Given the description of an element on the screen output the (x, y) to click on. 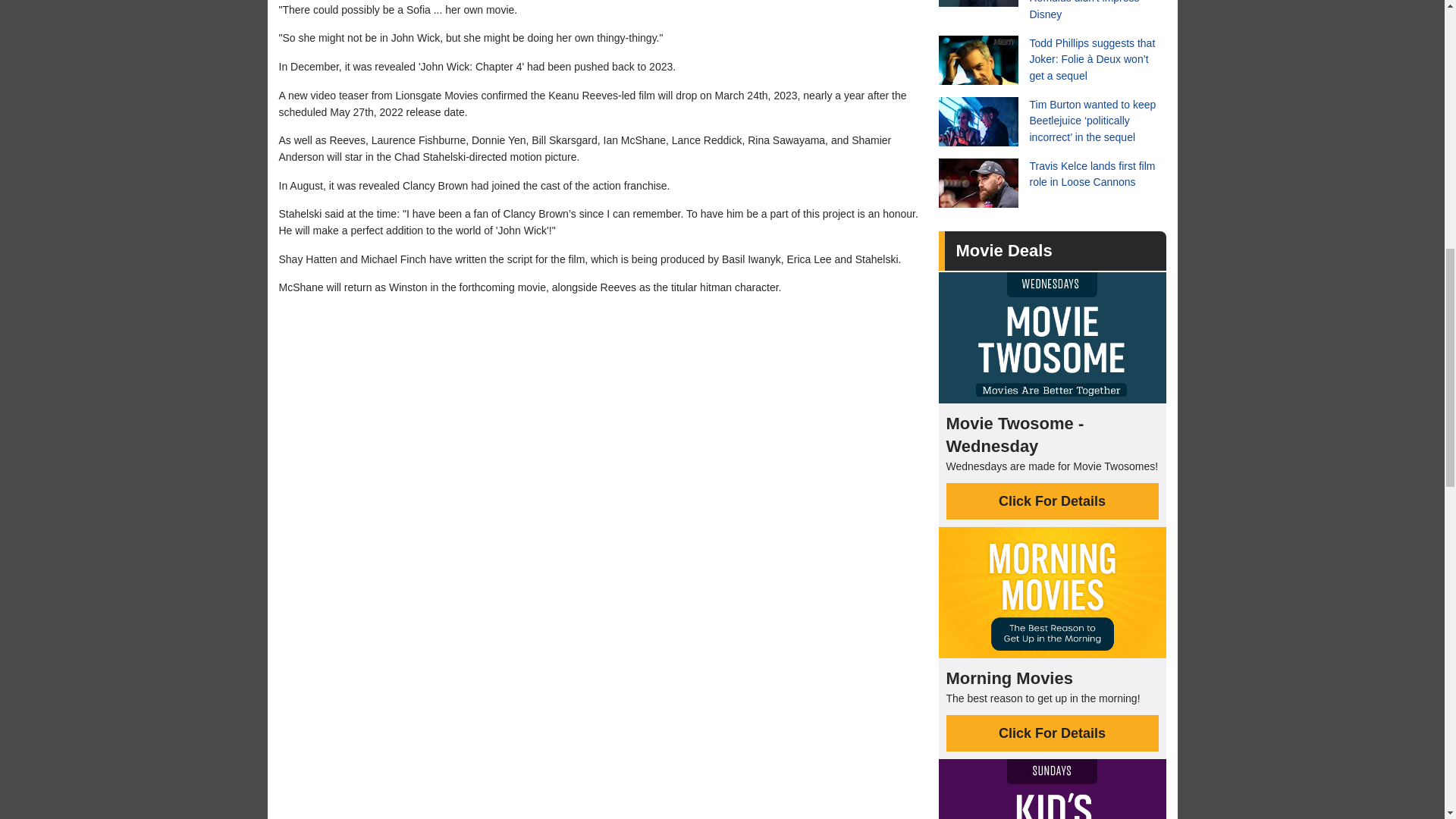
Click For Details (1052, 501)
Travis Kelce lands first film role in Loose Cannons (1052, 183)
Click For Details (1052, 732)
Movie Deals (1003, 250)
